Given the description of an element on the screen output the (x, y) to click on. 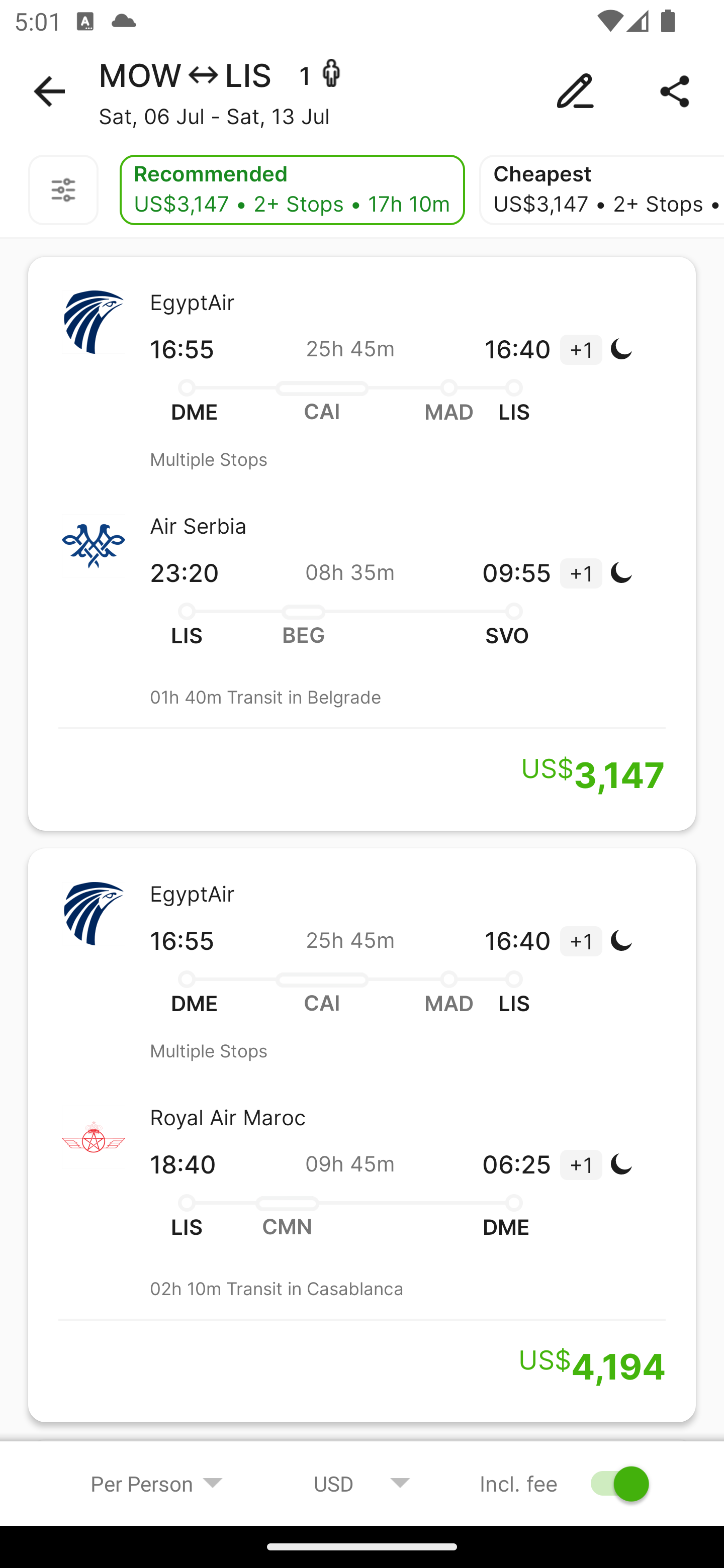
MOW LIS   1 - Sat, 06 Jul - Sat, 13 Jul (361, 91)
Recommended  US$3,147 • 2+ Stops • 17h 10m (291, 190)
Cheapest US$3,147 • 2+ Stops • 17h 10m (601, 190)
Per Person (156, 1482)
USD (361, 1482)
